Given the description of an element on the screen output the (x, y) to click on. 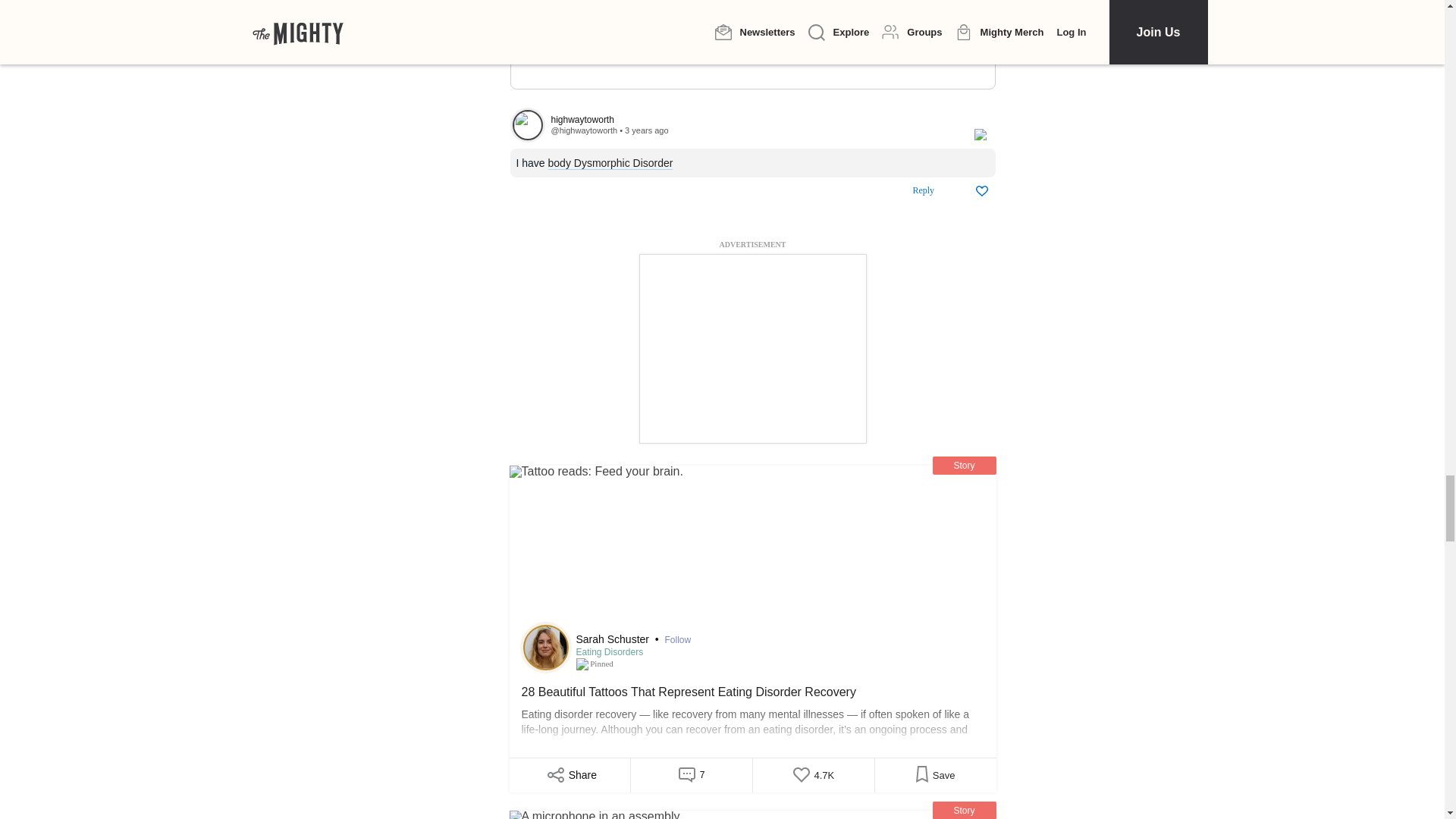
body Dysmorphic Disorder (610, 163)
Visit Sarah Schuster's profile (545, 647)
View their profile (526, 124)
View their profile (583, 130)
View their profile (754, 120)
28 Beautiful Tattoos That Represent Eating Disorder Recovery (752, 547)
28 Beautiful Tattoos That Represent Eating Disorder Recovery (752, 712)
